Given the description of an element on the screen output the (x, y) to click on. 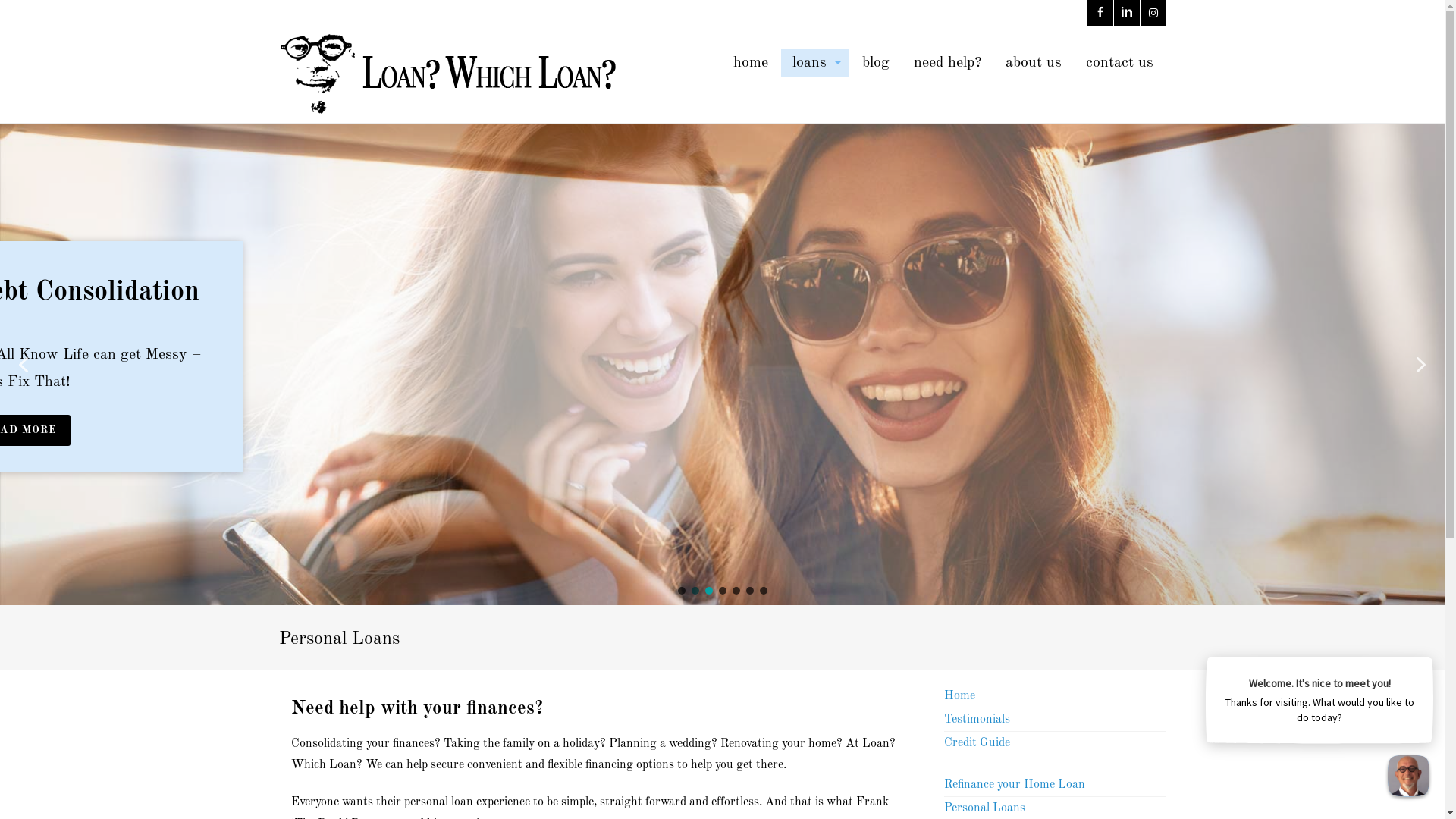
Personal Loans Element type: text (984, 808)
loans Element type: text (815, 62)
need help? Element type: text (947, 62)
blog Element type: text (875, 62)
READ MORE Element type: text (137, 429)
Refinance your Home Loan Element type: text (1014, 784)
Testimonials Element type: text (977, 719)
contact us Element type: text (1118, 62)
home Element type: text (750, 62)
Credit Guide Element type: text (977, 743)
about us Element type: text (1032, 62)
Home Element type: text (959, 696)
